Given the description of an element on the screen output the (x, y) to click on. 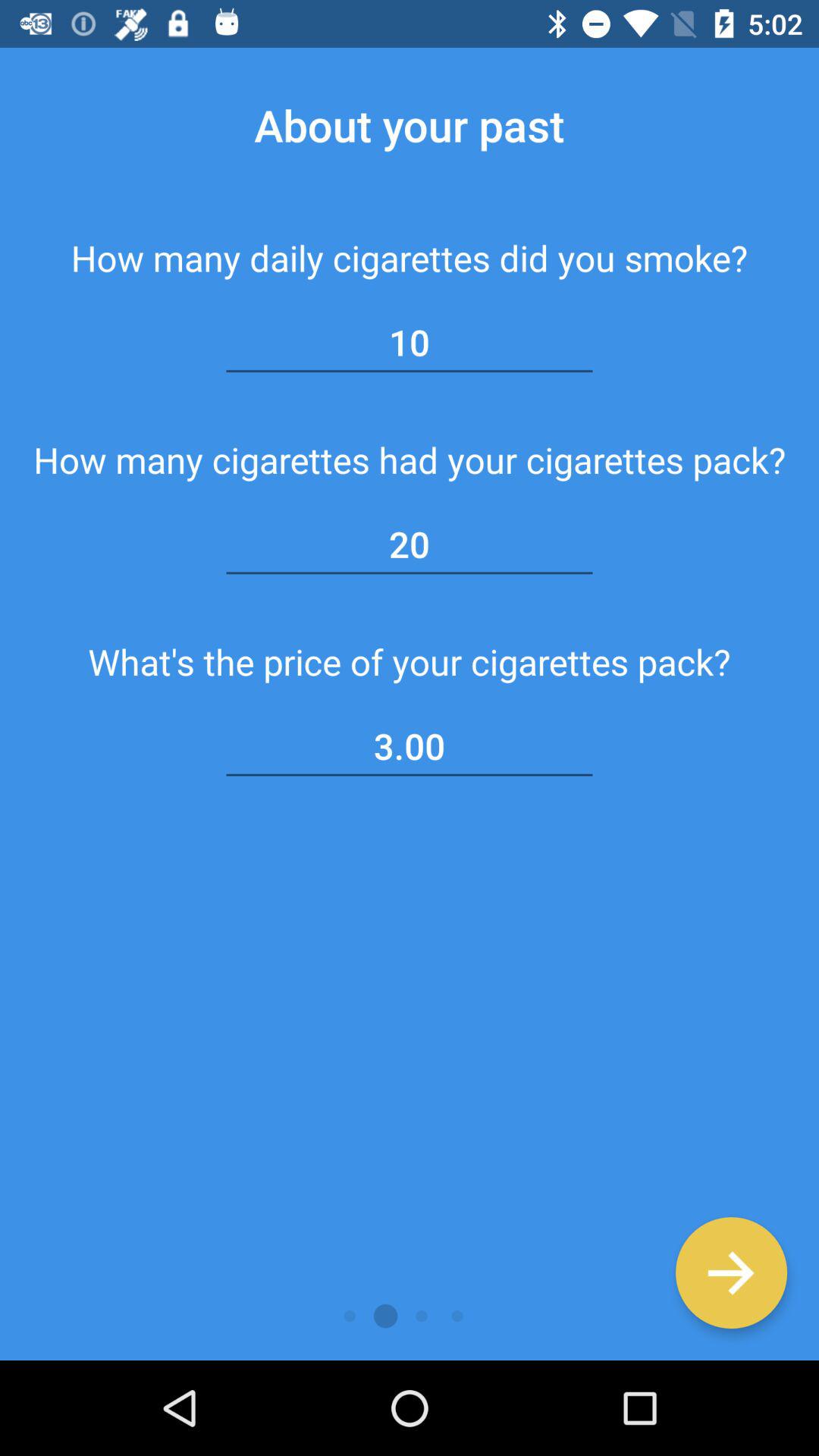
more for your health (731, 1272)
